Given the description of an element on the screen output the (x, y) to click on. 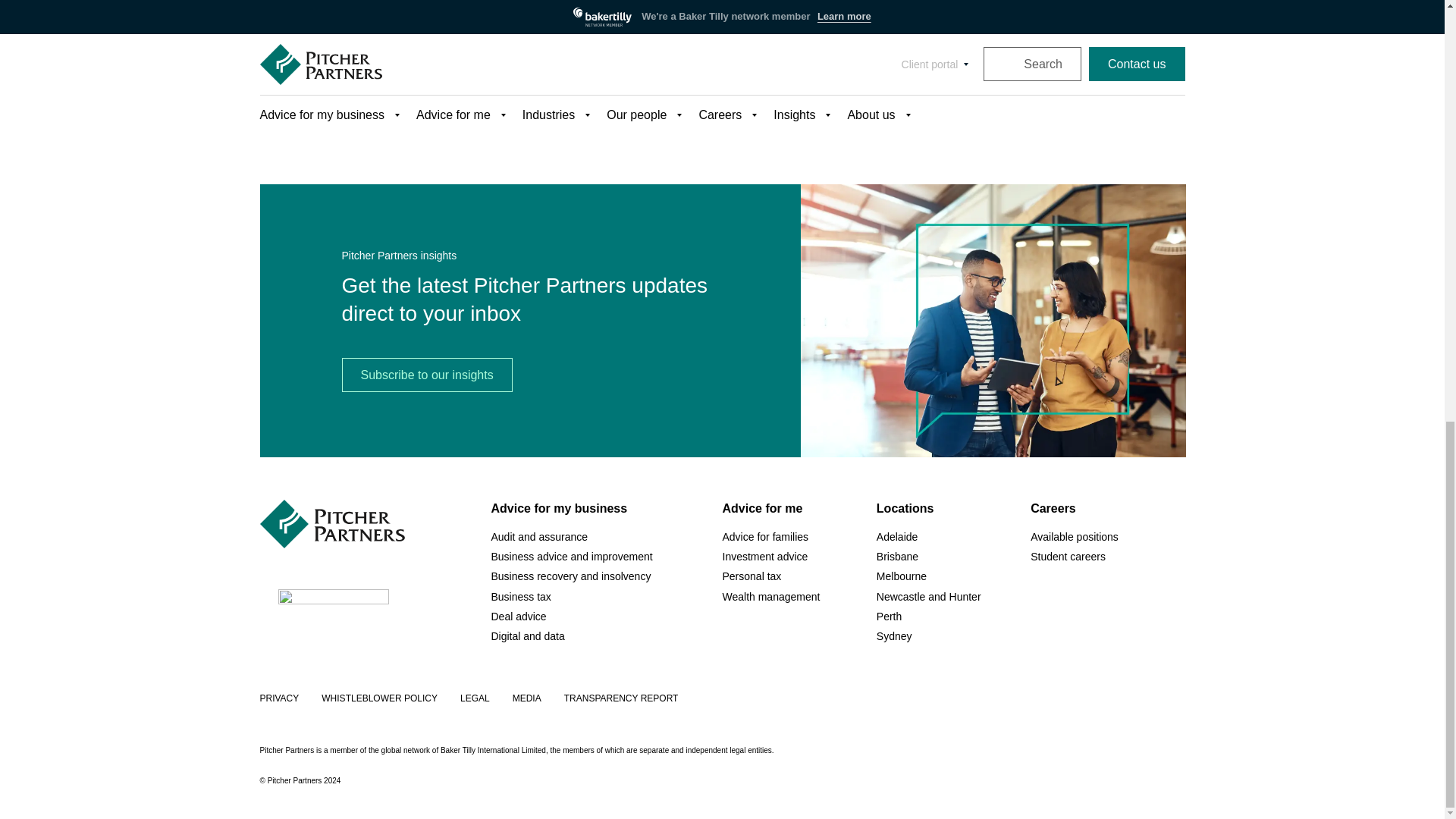
LinkedIn (1037, 634)
Instagram (1061, 634)
